Given the description of an element on the screen output the (x, y) to click on. 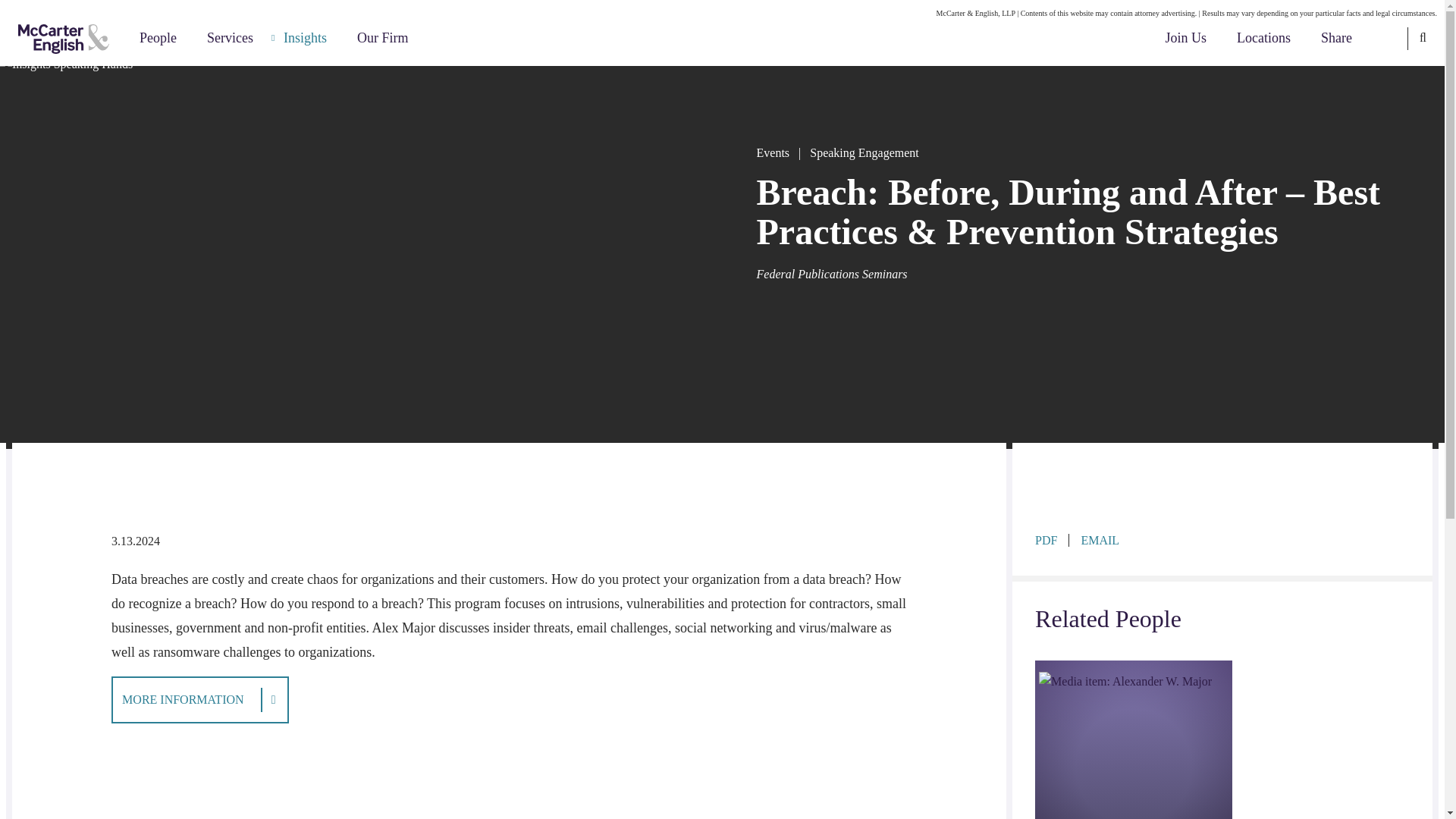
Join Us (1186, 38)
Email this Page (1099, 540)
Insights (304, 38)
Services (229, 38)
Locations (1263, 38)
People (157, 38)
Our Firm (382, 38)
